Given the description of an element on the screen output the (x, y) to click on. 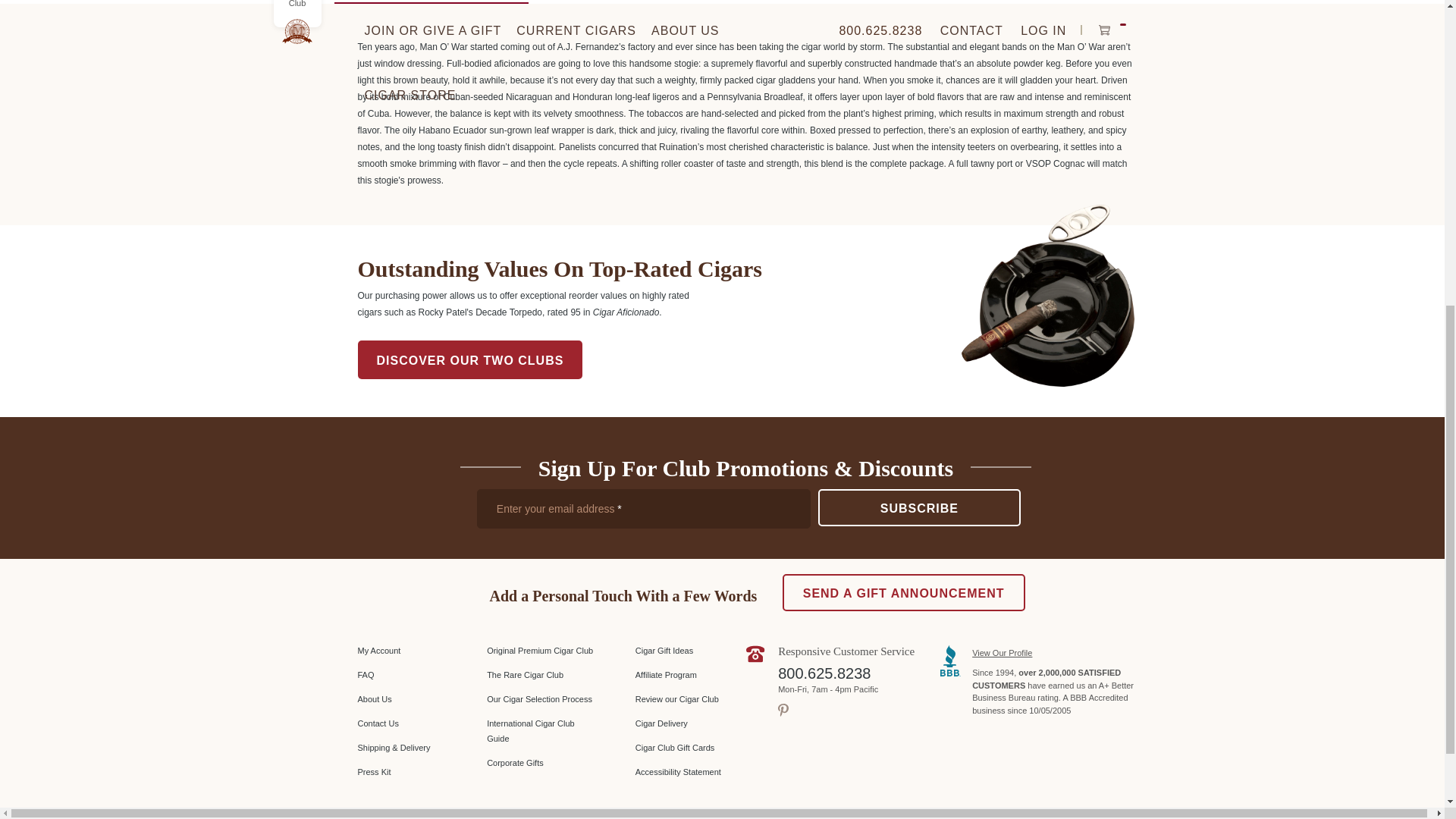
Design Your Own Club (297, 4)
DISCOVER OUR TWO CLUBS (470, 359)
About The Cigar (430, 2)
SUBSCRIBE (919, 507)
Nicaraguan Cigars (624, 2)
